Given the description of an element on the screen output the (x, y) to click on. 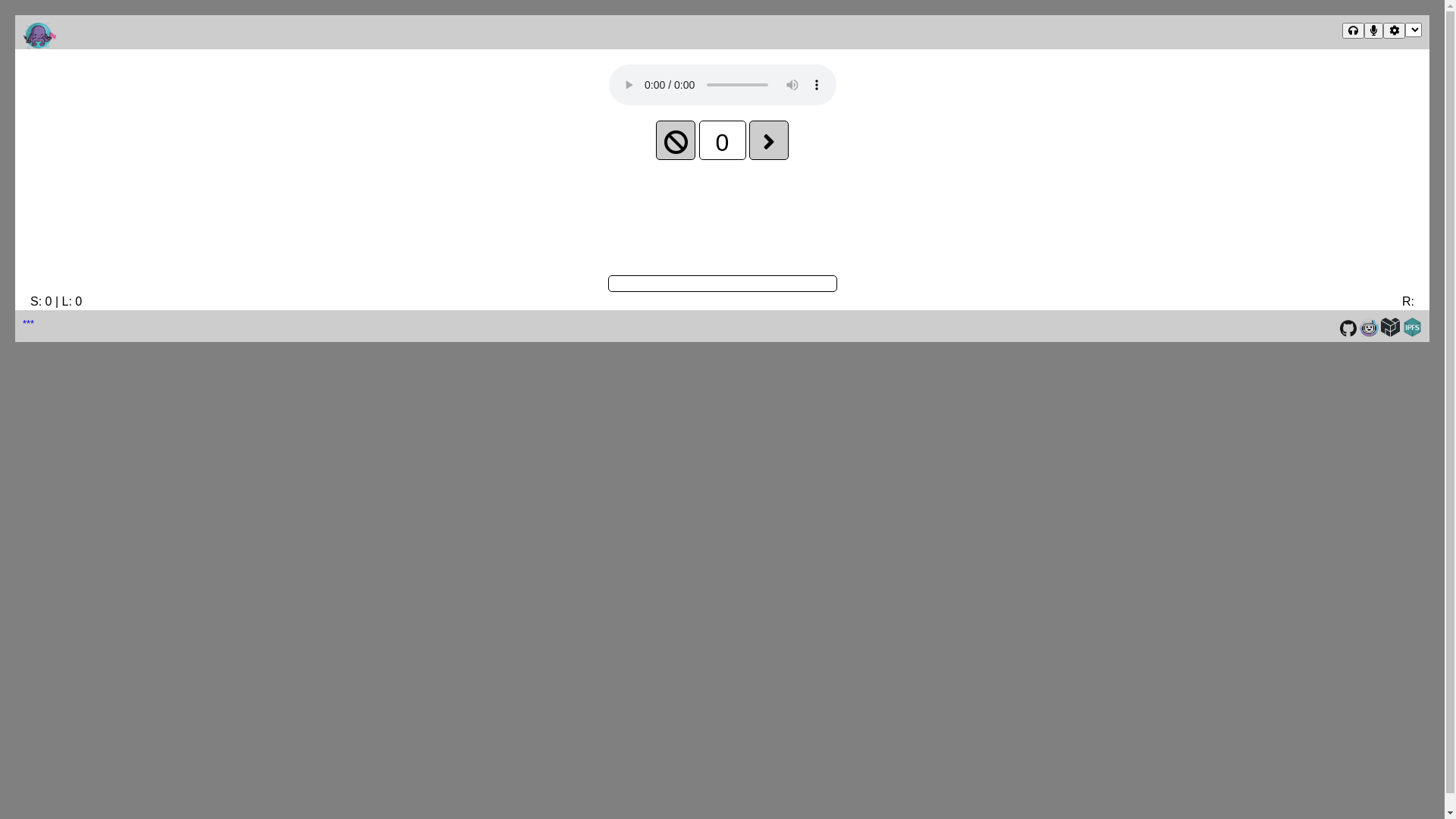
*** Element type: text (28, 323)
